Given the description of an element on the screen output the (x, y) to click on. 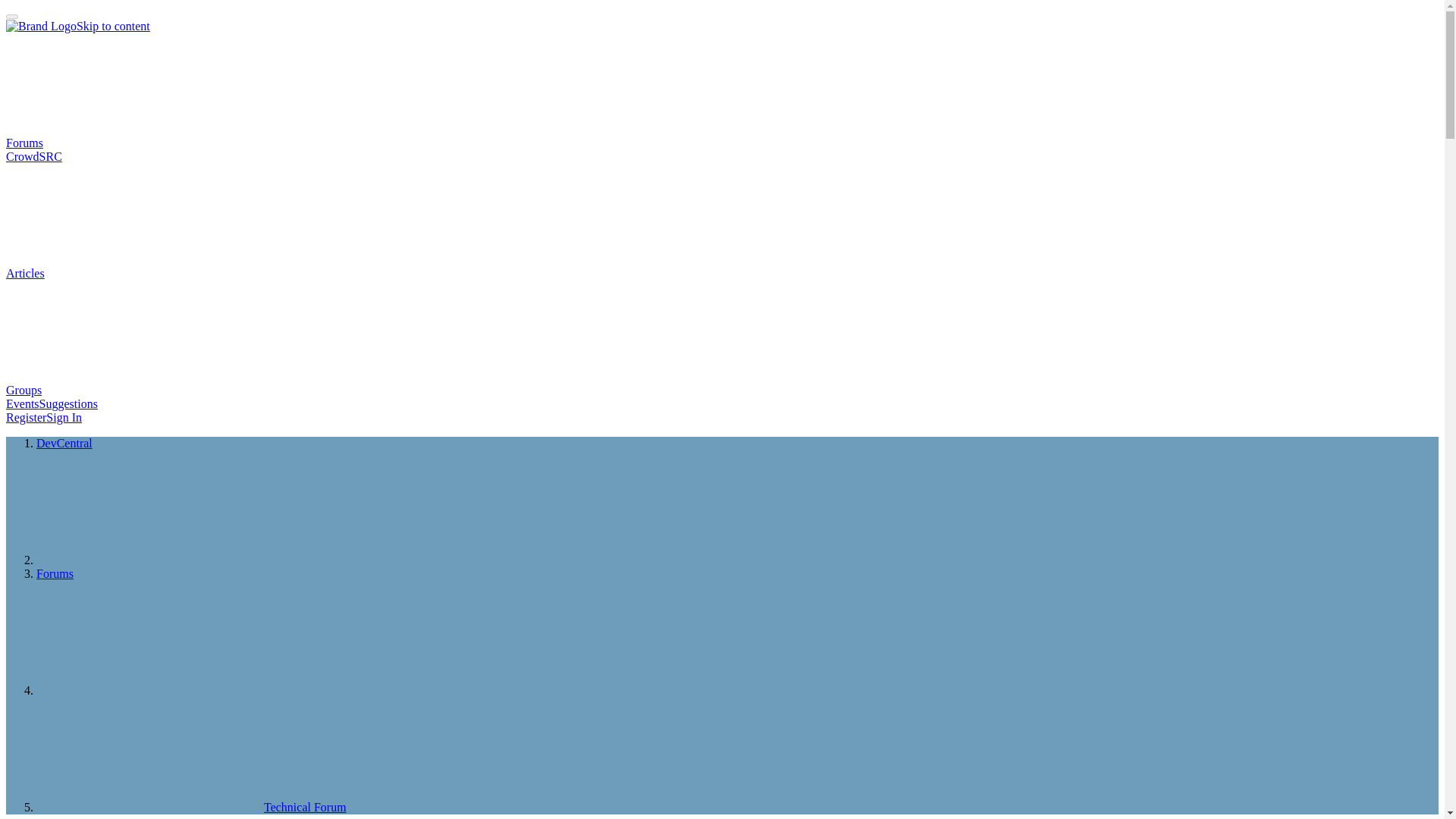
Skip to content (113, 25)
Sign In (63, 417)
DevCentral (64, 442)
Suggestions (68, 403)
Technical Forum (191, 807)
Articles (138, 273)
Forums (55, 573)
Events (22, 403)
CrowdSRC (33, 155)
Groups (137, 390)
Register (25, 417)
Forums (137, 142)
